Given the description of an element on the screen output the (x, y) to click on. 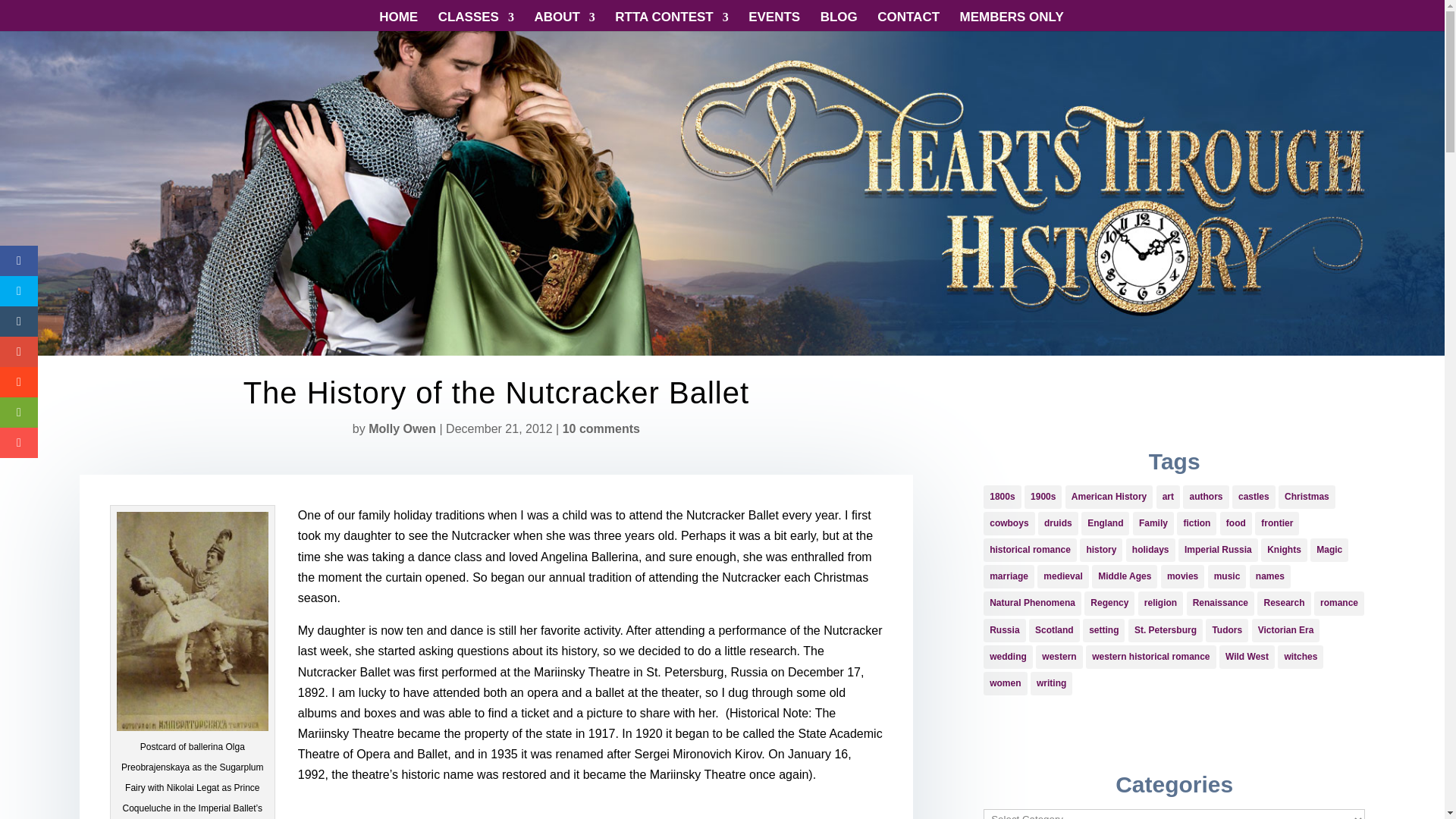
Molly Owen (401, 428)
MEMBERS ONLY (1011, 21)
10 comments (601, 428)
HOME (397, 21)
CONTACT (908, 21)
RTTA CONTEST (671, 21)
BLOG (839, 21)
Posts by Molly Owen (401, 428)
CLASSES (475, 21)
ABOUT (564, 21)
